Given the description of an element on the screen output the (x, y) to click on. 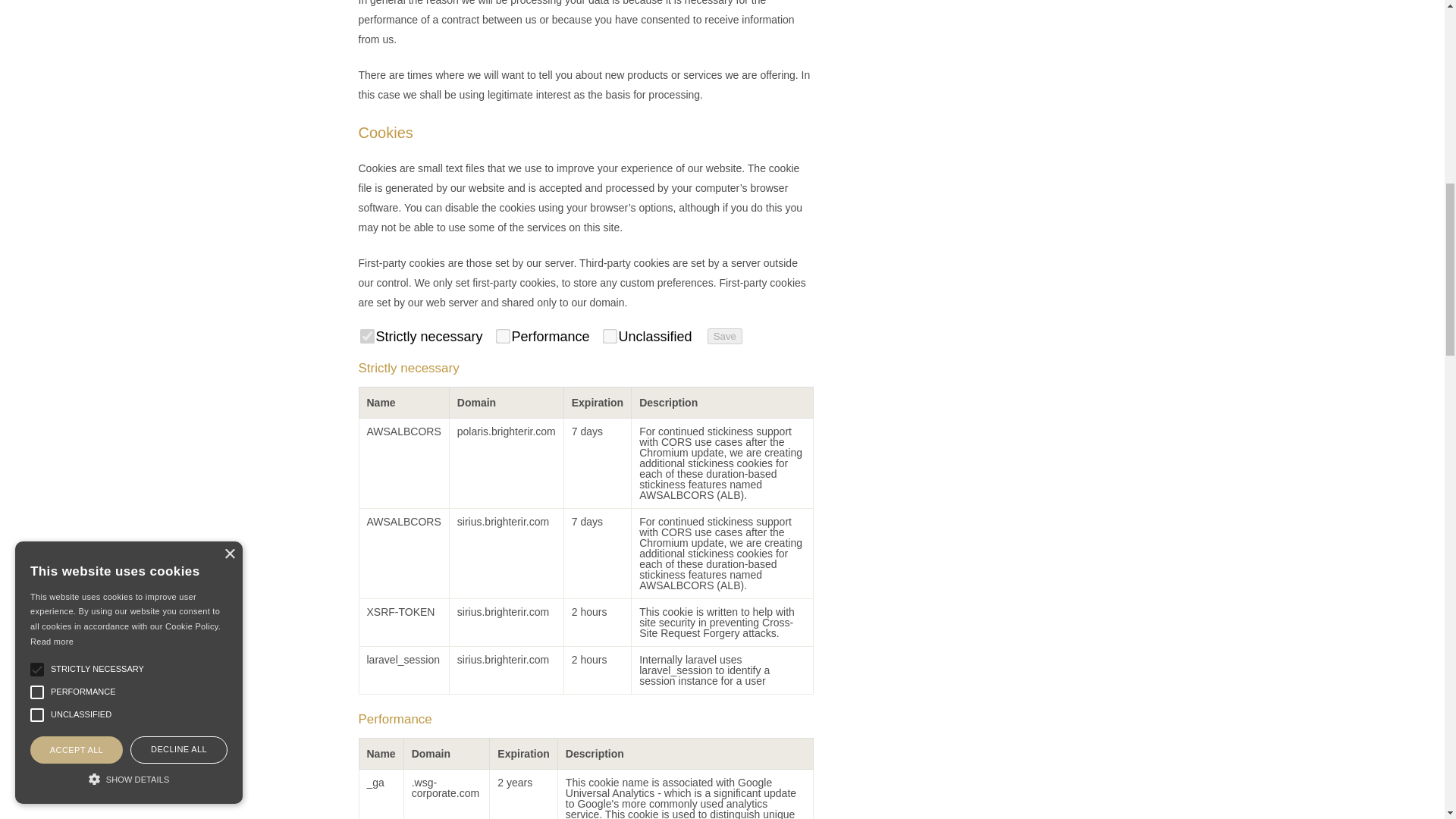
Save (724, 335)
unclassified (606, 334)
strict (364, 334)
performance (500, 334)
